Given the description of an element on the screen output the (x, y) to click on. 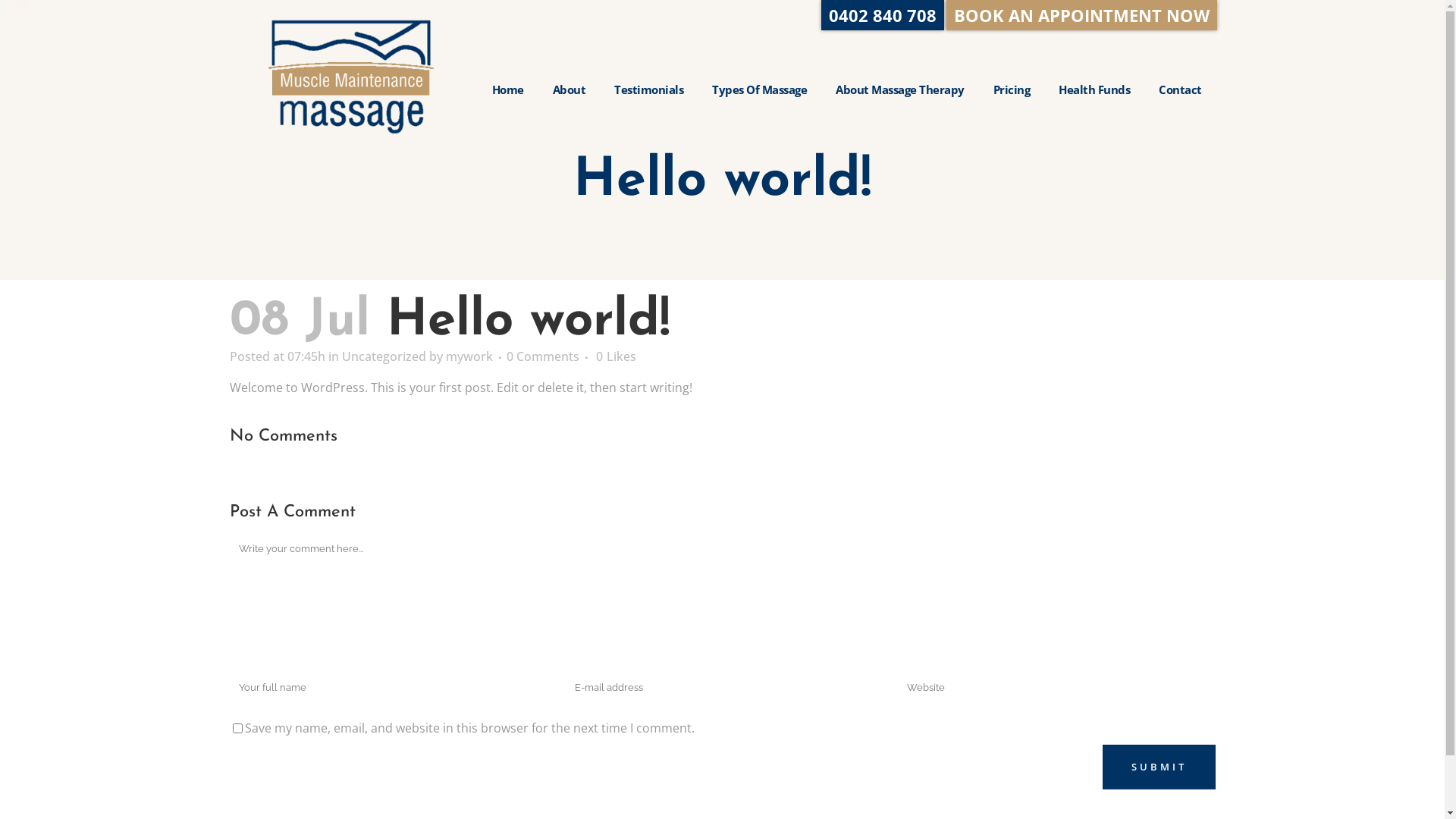
Pricing Element type: text (1011, 89)
BOOK AN APPOINTMENT NOW Element type: text (1081, 14)
0 Comments Element type: text (542, 356)
Uncategorized Element type: text (383, 356)
0402 840 708 Element type: text (882, 14)
mywork Element type: text (468, 356)
Contact Element type: text (1180, 89)
Testimonials Element type: text (648, 89)
0 Likes Element type: text (616, 356)
Types Of Massage Element type: text (759, 89)
Home Element type: text (506, 89)
Submit Element type: text (1158, 766)
About Element type: text (568, 89)
About Massage Therapy Element type: text (900, 89)
Health Funds Element type: text (1093, 89)
